Given the description of an element on the screen output the (x, y) to click on. 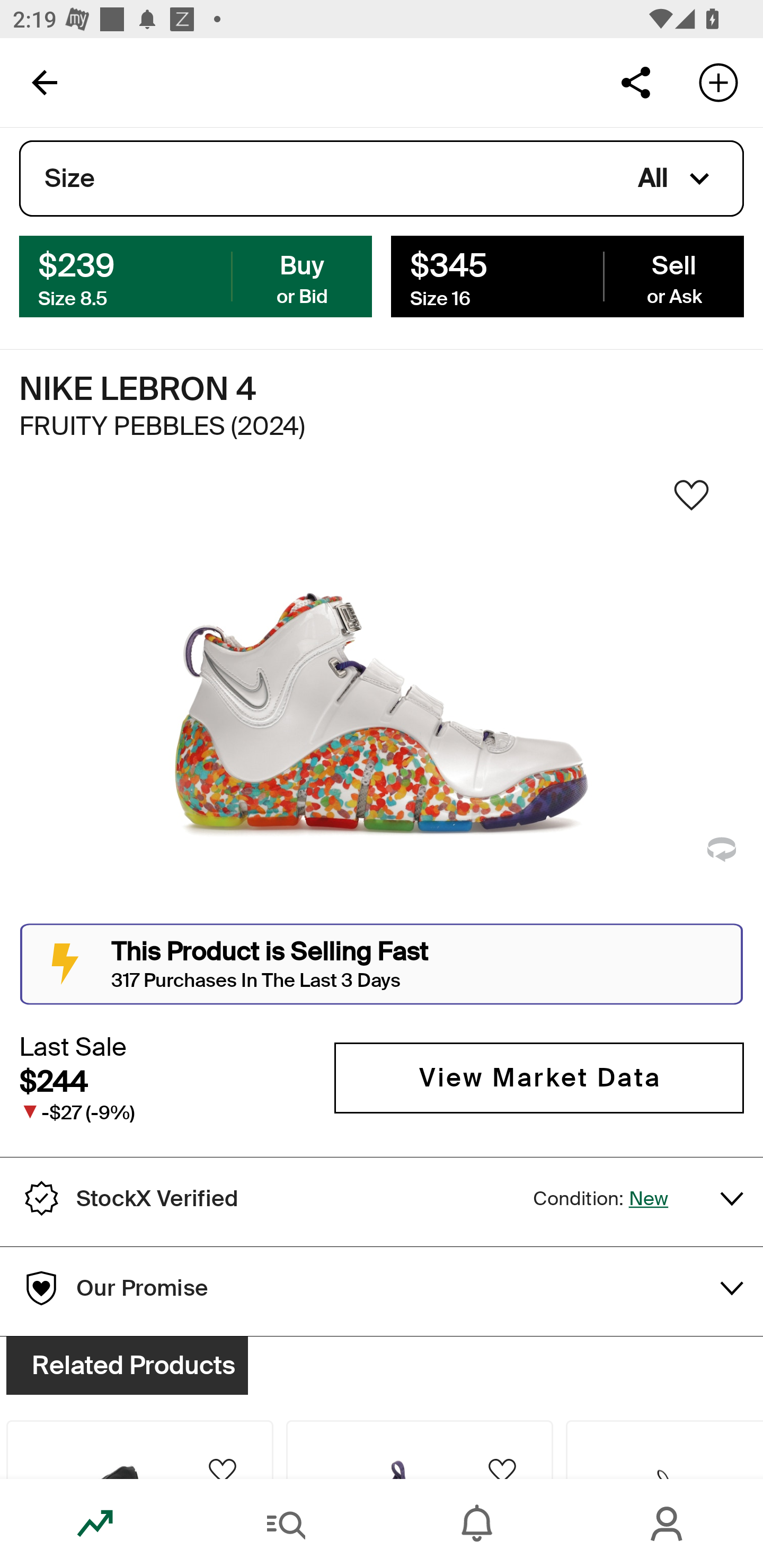
Share (635, 81)
Add (718, 81)
Size All (381, 178)
$239 Buy Size 8.5 or Bid (195, 275)
$345 Sell Size 16 or Ask (566, 275)
Sneaker Image (381, 699)
View Market Data (538, 1077)
Search (285, 1523)
Inbox (476, 1523)
Account (667, 1523)
